Given the description of an element on the screen output the (x, y) to click on. 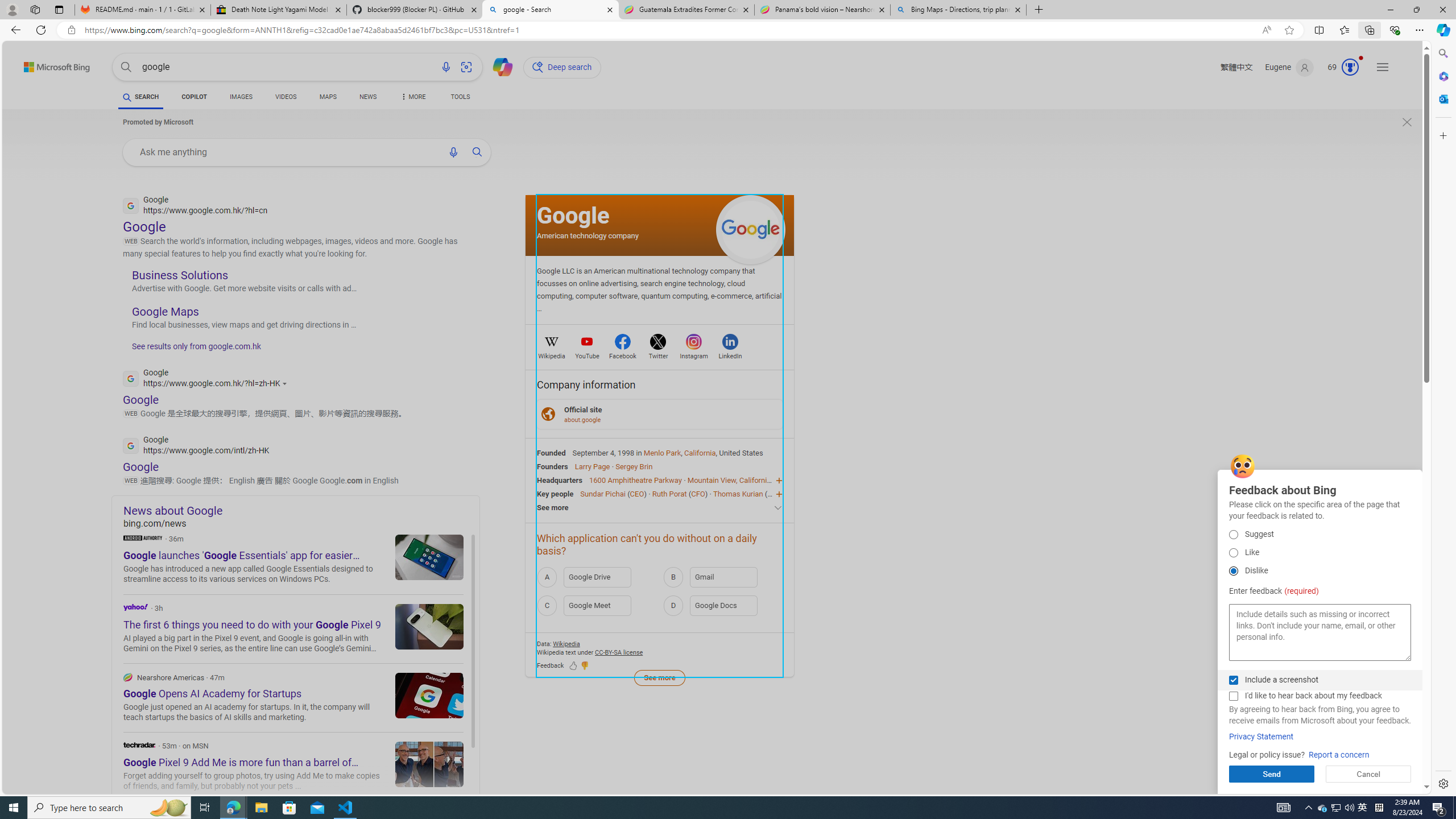
Cancel (1368, 773)
Include a screenshot (1232, 679)
Send (1271, 773)
Privacy Statement (1261, 737)
Report a concern (1339, 755)
